Given the description of an element on the screen output the (x, y) to click on. 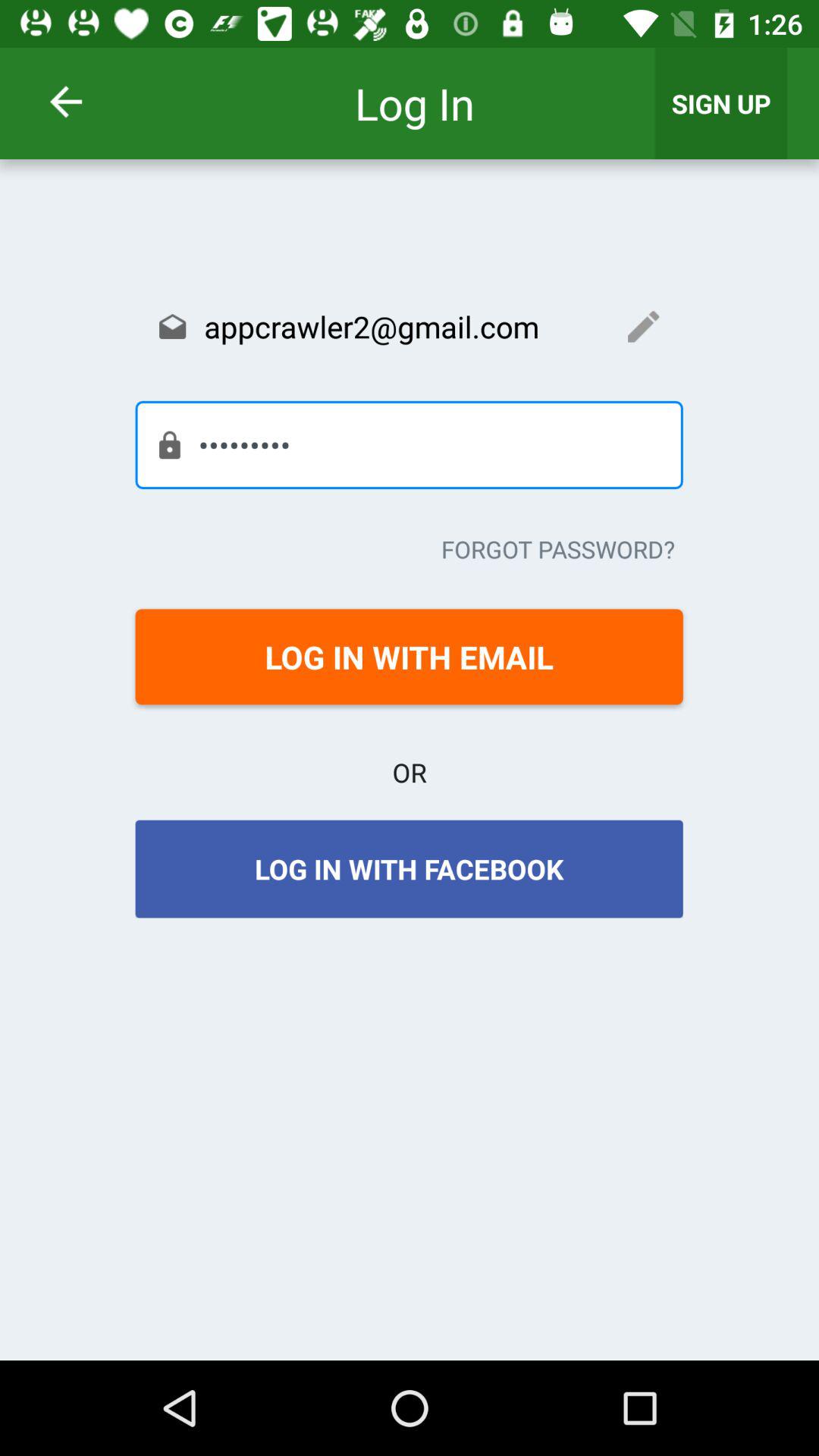
launch item below the crowd3116 item (558, 548)
